Given the description of an element on the screen output the (x, y) to click on. 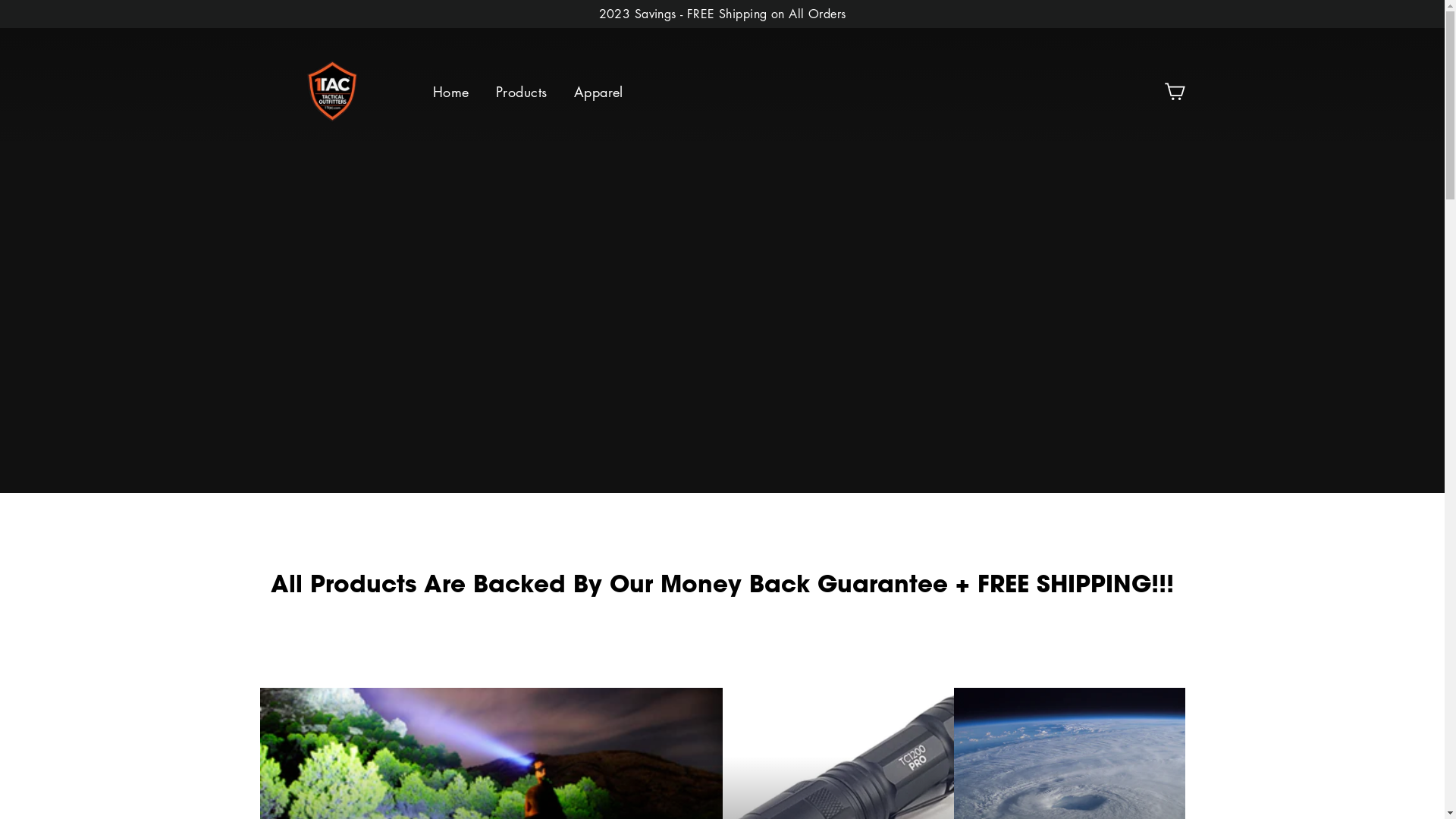
Products Element type: text (521, 92)
Home Element type: text (450, 92)
Apparel Element type: text (598, 92)
Cart Element type: text (1173, 91)
Skip to content Element type: text (0, 0)
